Given the description of an element on the screen output the (x, y) to click on. 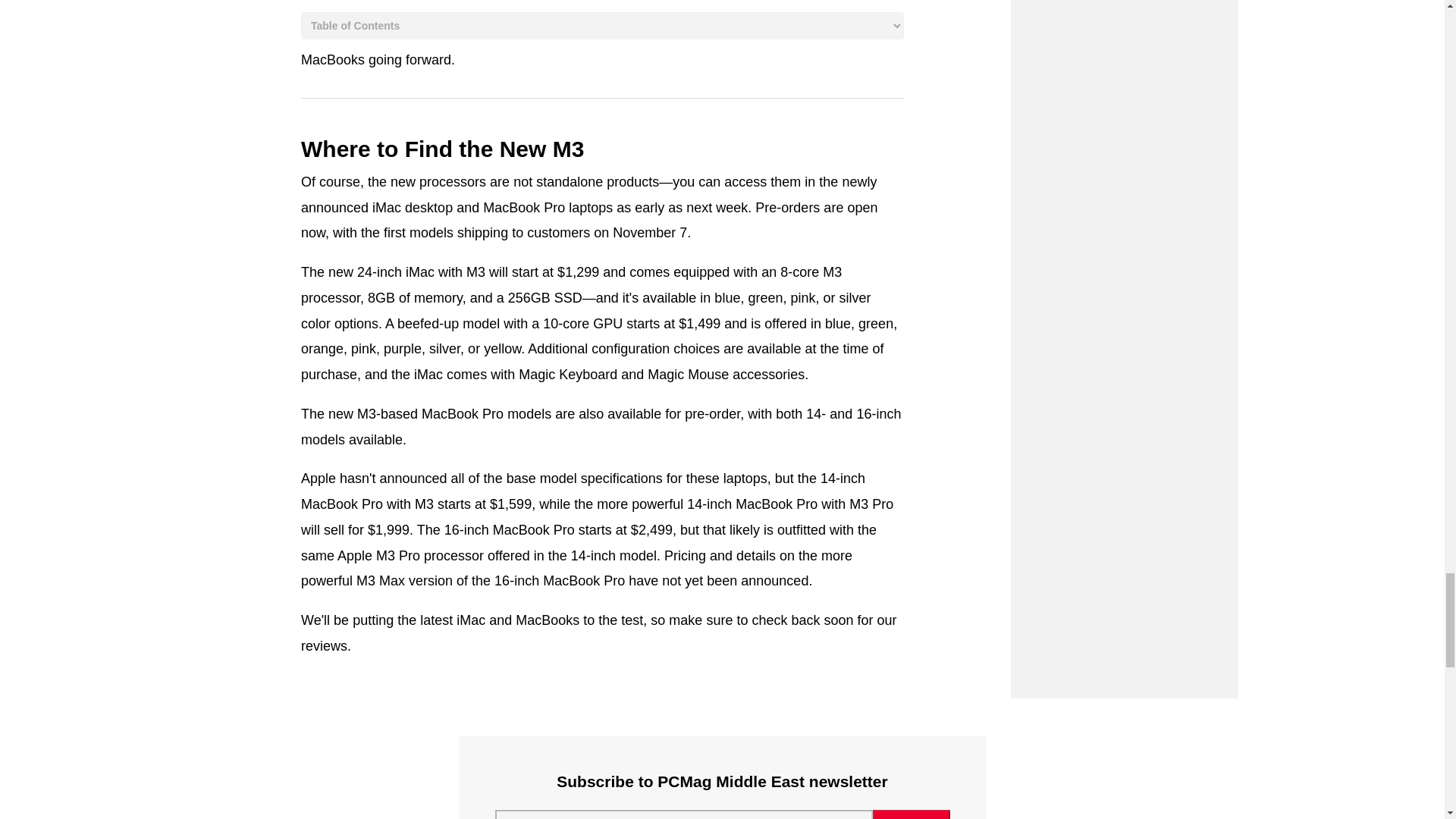
Subscribe (911, 814)
Subscribe (911, 814)
